Given the description of an element on the screen output the (x, y) to click on. 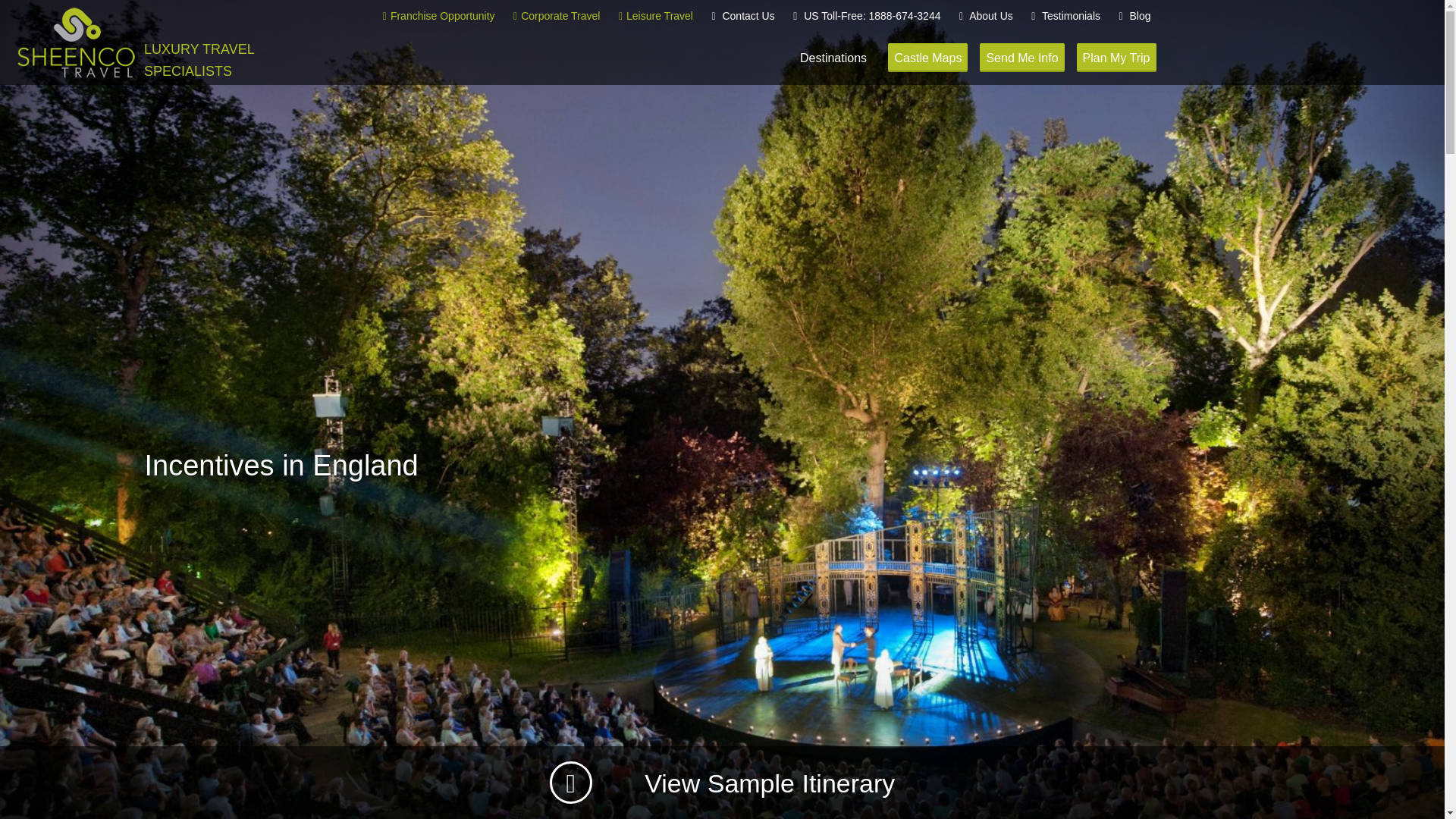
Plan My Trip (1116, 57)
Castle Maps (928, 57)
Franchise Opportunity (438, 15)
Testimonials (1065, 15)
Contact Us (742, 15)
Send Me Info (1021, 57)
Destinations (833, 55)
Leisure Travel (655, 15)
Blog (1133, 15)
Corporate Travel (556, 15)
